Given the description of an element on the screen output the (x, y) to click on. 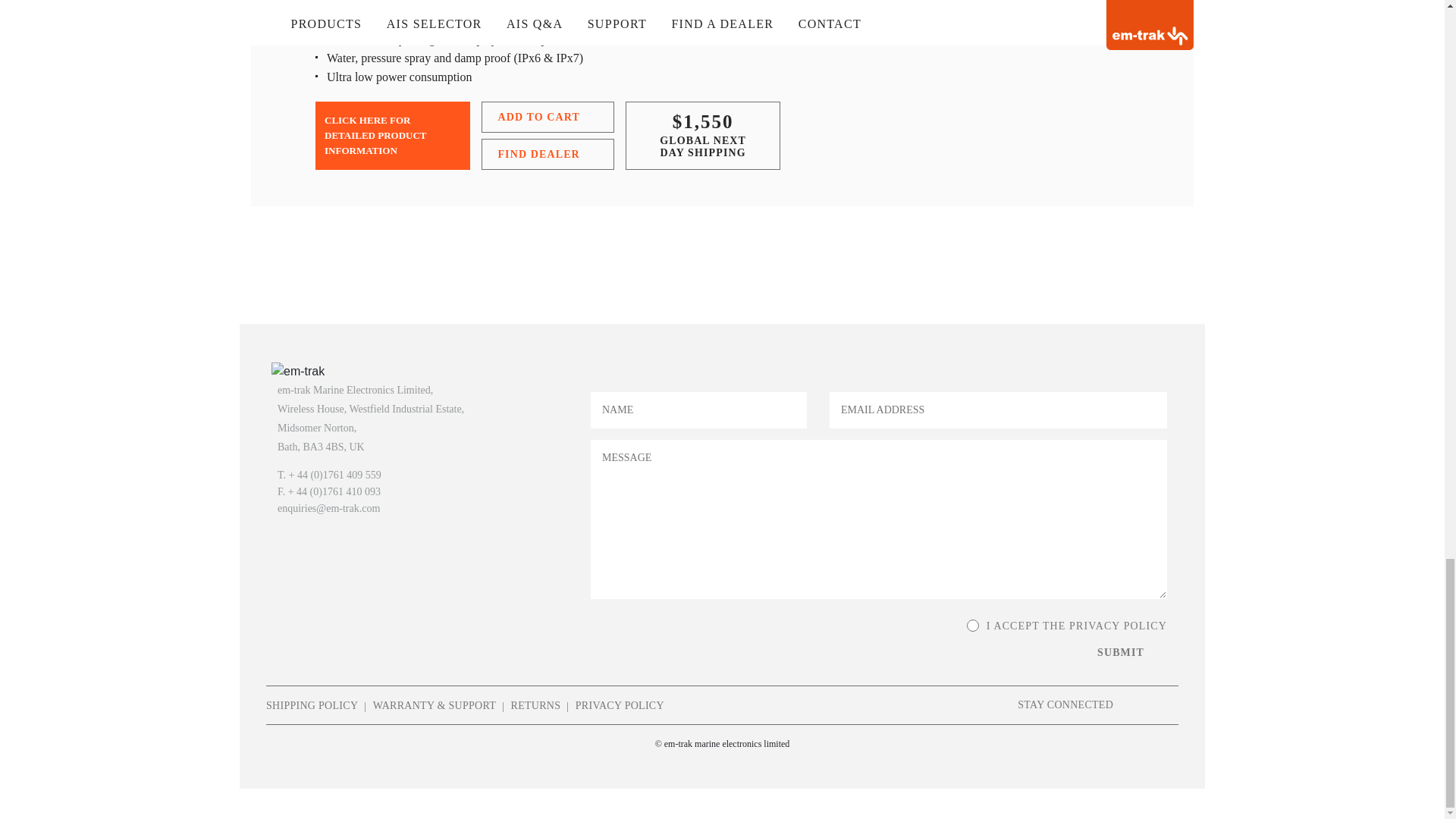
ADD TO CART (546, 116)
CLICK HERE FOR DETAILED PRODUCT INFORMATION (392, 135)
RETURNS (535, 705)
Submit (1130, 652)
PRIVACY POLICY (619, 705)
FIND DEALER (546, 153)
I ACCEPT THE PRIVACY POLICY (972, 625)
Submit (1130, 652)
SHIPPING POLICY (312, 705)
